Given the description of an element on the screen output the (x, y) to click on. 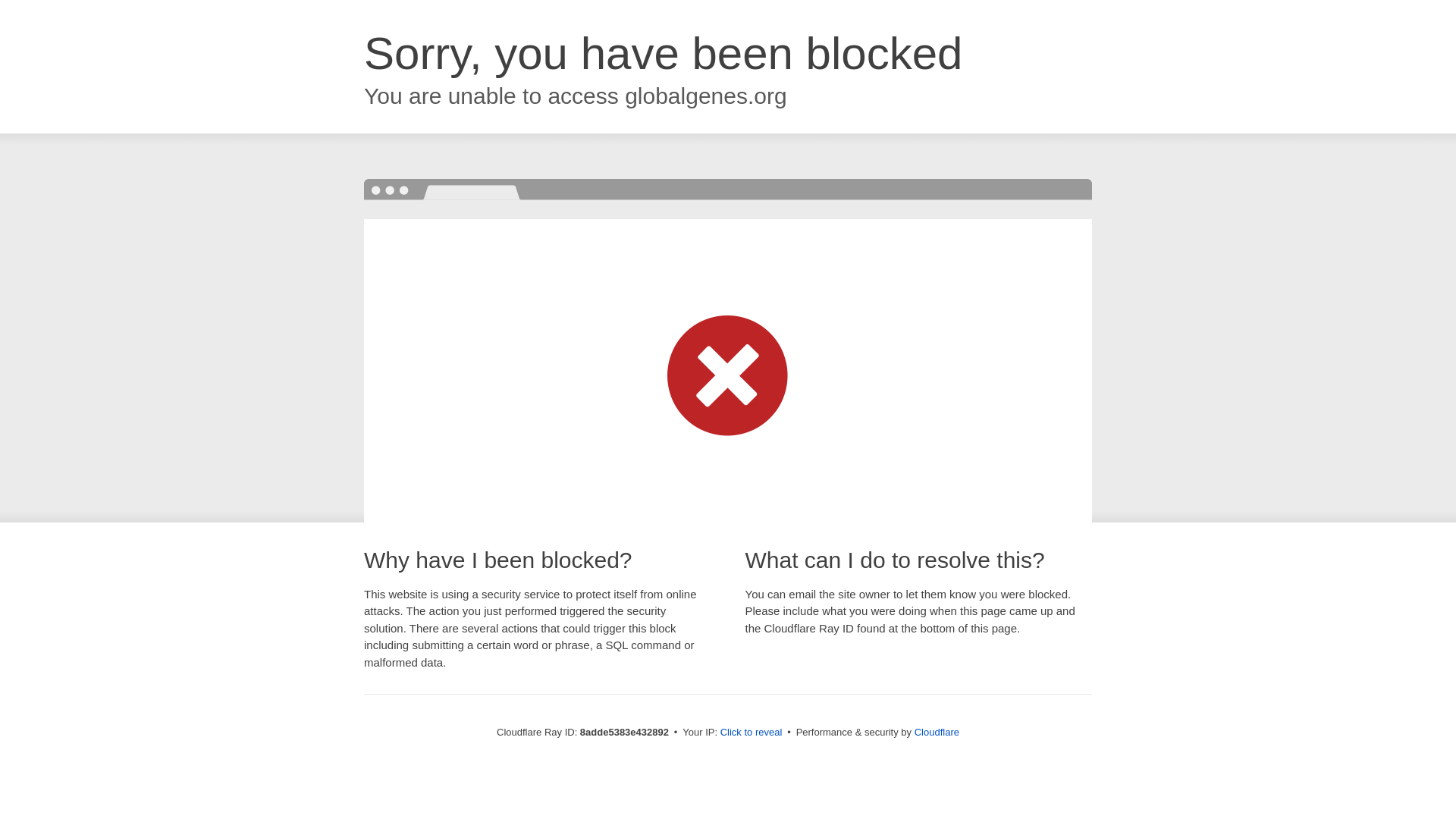
Click to reveal (751, 732)
Cloudflare (936, 731)
